Given the description of an element on the screen output the (x, y) to click on. 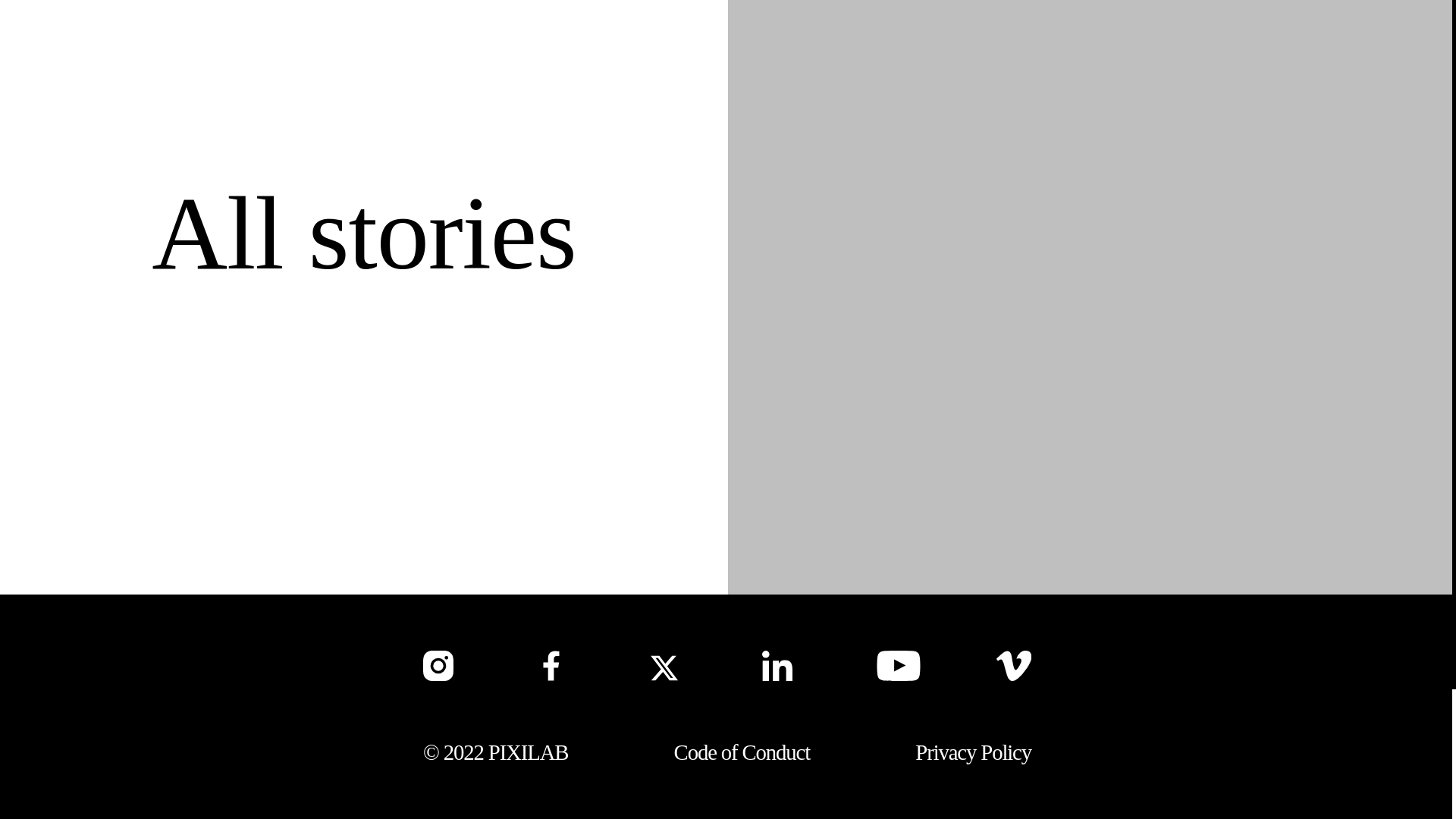
All stories (363, 233)
Privacy Policy (972, 752)
Code of Conduct (741, 752)
